Given the description of an element on the screen output the (x, y) to click on. 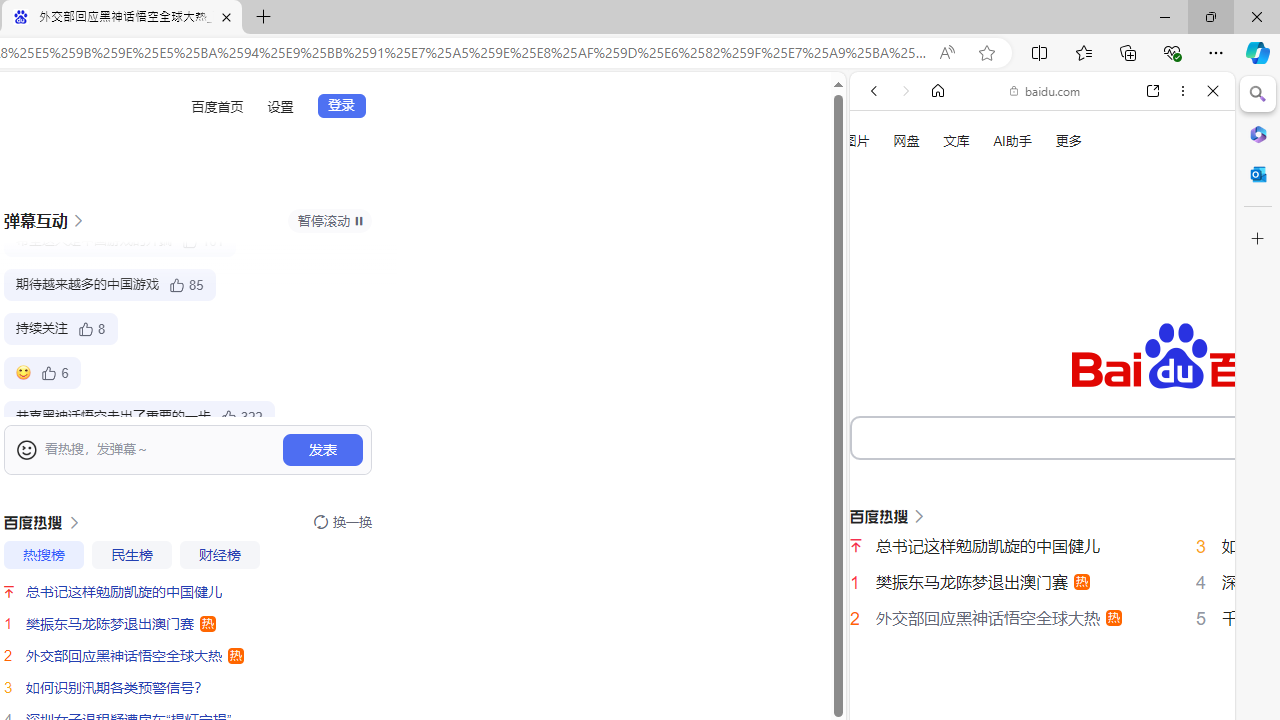
WEB   (882, 339)
IMAGES (939, 339)
Search Filter, IMAGES (939, 339)
Split screen (1039, 52)
Search Filter, WEB (882, 339)
New Tab (263, 17)
Back (874, 91)
Outlook (1258, 174)
Favorites (1083, 52)
OF | English meaning - Cambridge Dictionary (1034, 419)
